Given the description of an element on the screen output the (x, y) to click on. 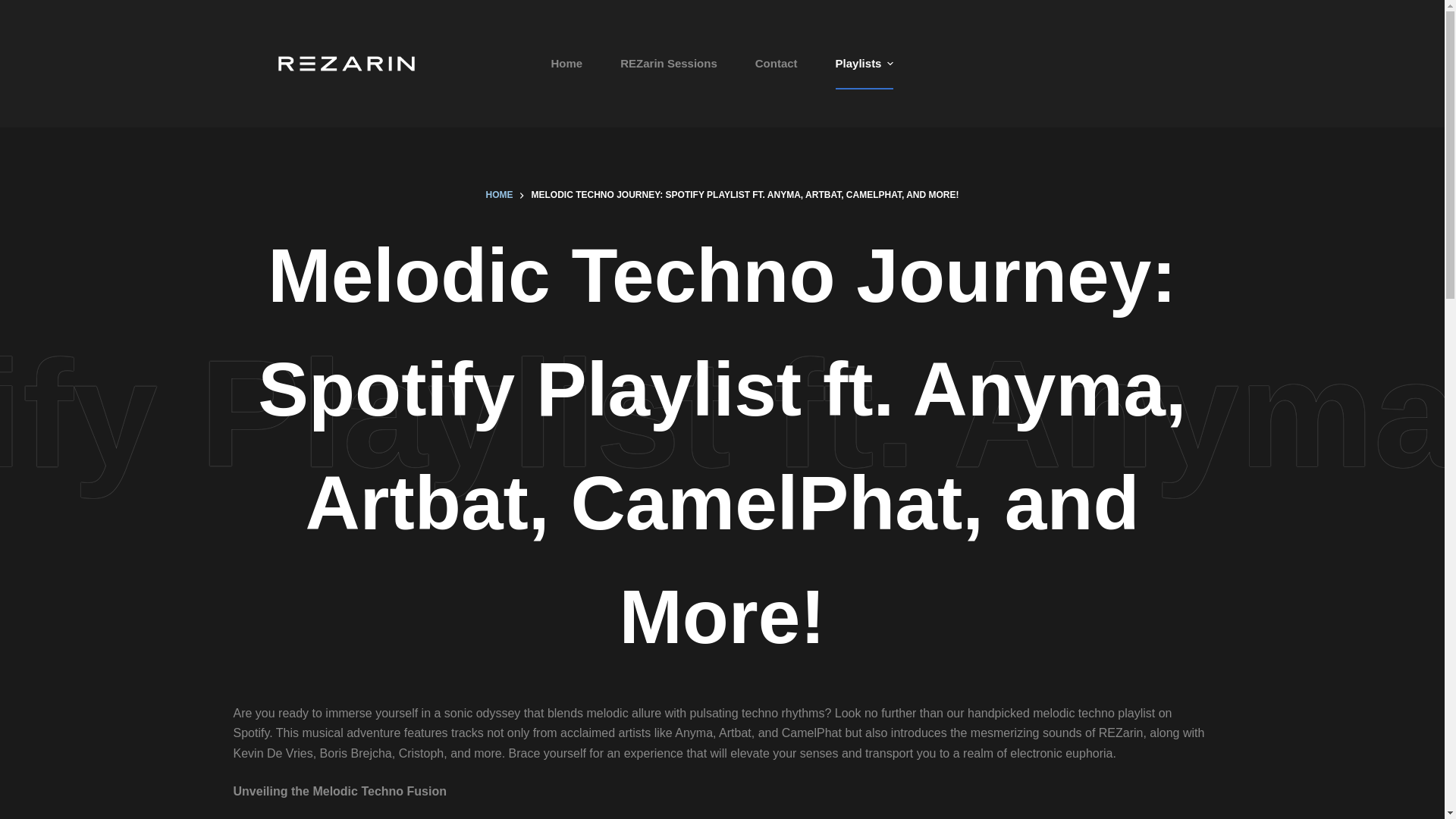
HOME (498, 195)
Playlists (864, 62)
Contact (776, 62)
Home (567, 62)
REZarin Sessions (668, 62)
Skip to content (15, 7)
